Given the description of an element on the screen output the (x, y) to click on. 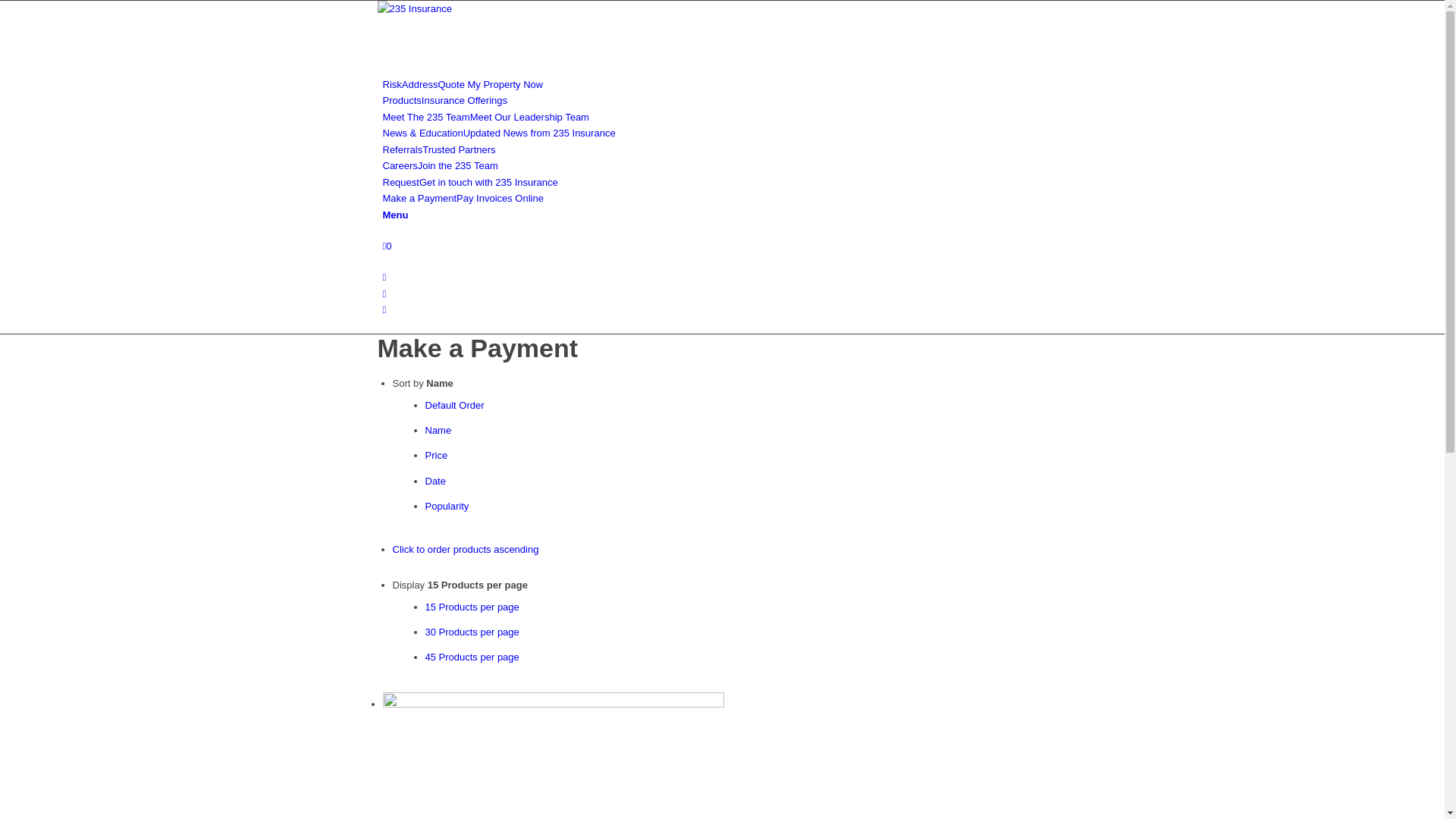
Linkedin Element type: hover (383, 276)
CareersJoin the 235 Team Element type: text (439, 165)
Default Order Element type: text (453, 405)
Facebook Element type: hover (383, 293)
Make a PaymentPay Invoices Online Element type: text (462, 197)
Menu Element type: text (394, 214)
Name Element type: text (437, 430)
ProductsInsurance Offerings Element type: text (444, 100)
45 Products per page Element type: text (471, 656)
Date Element type: text (434, 480)
Click to order products ascending Element type: text (465, 549)
30 Products per page Element type: text (471, 631)
ReferralsTrusted Partners Element type: text (438, 149)
Meet The 235 TeamMeet Our Leadership Team Element type: text (485, 116)
15 Products per page Element type: text (471, 606)
Price Element type: text (435, 455)
RiskAddressQuote My Property Now Element type: text (462, 84)
News & EducationUpdated News from 235 Insurance Element type: text (498, 132)
0 Element type: text (386, 245)
Gplus Element type: hover (383, 309)
RequestGet in touch with 235 Insurance Element type: text (469, 182)
Popularity Element type: text (446, 505)
